Given the description of an element on the screen output the (x, y) to click on. 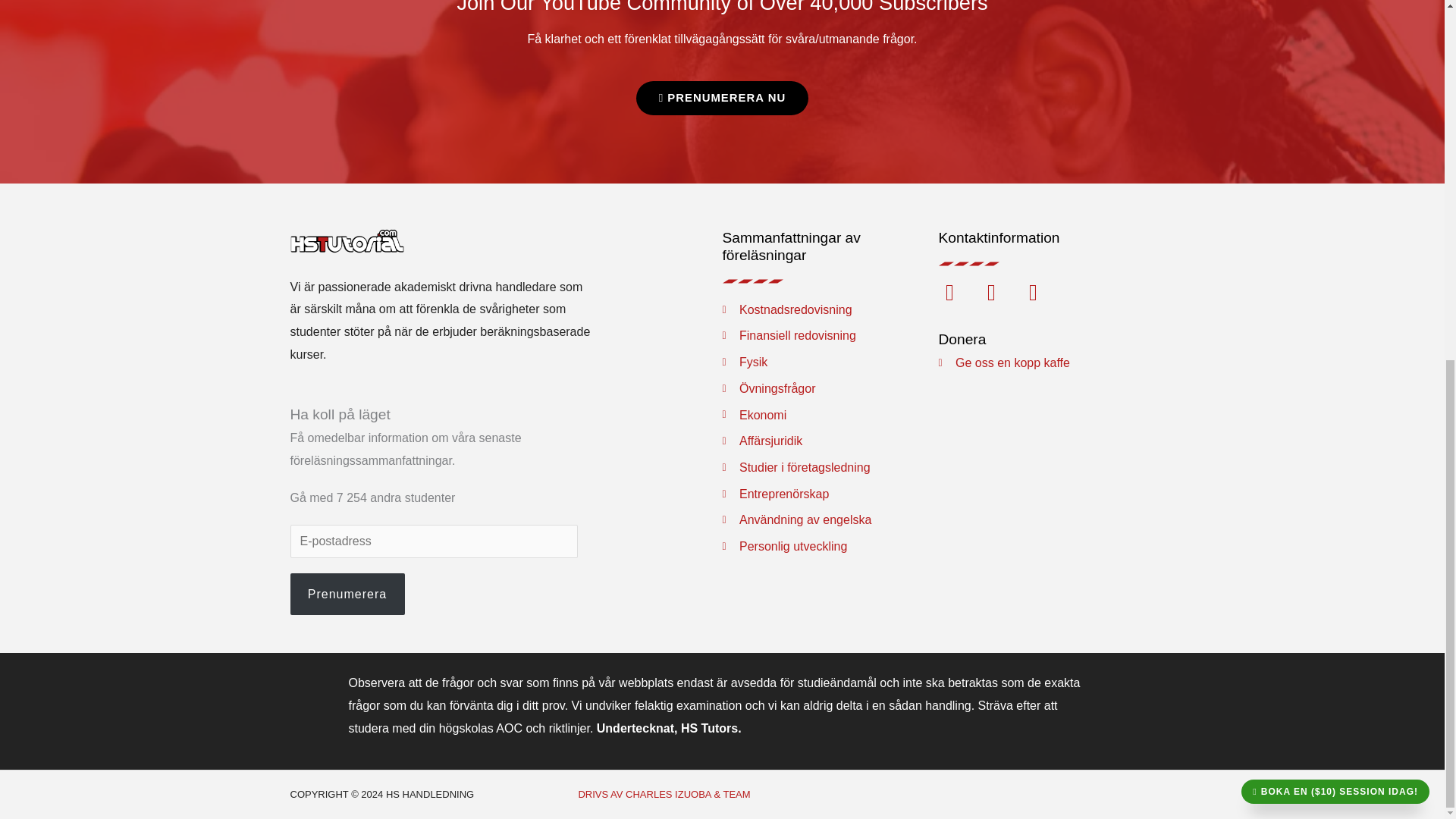
Finansiell redovisning (829, 335)
PRENUMERERA NU (722, 98)
Prenumerera (346, 594)
Kostnadsredovisning (829, 309)
Fysik (829, 362)
